Given the description of an element on the screen output the (x, y) to click on. 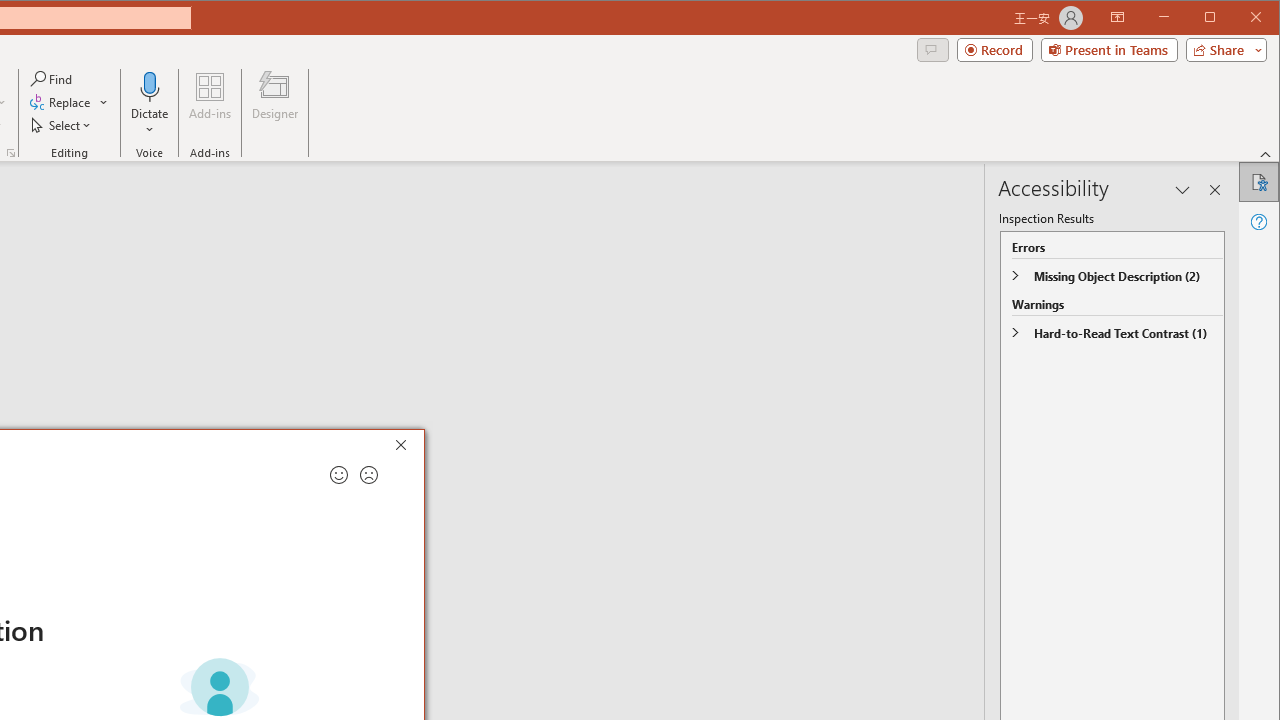
Send a smile for feedback (338, 475)
Send a frown for feedback (369, 475)
